Given the description of an element on the screen output the (x, y) to click on. 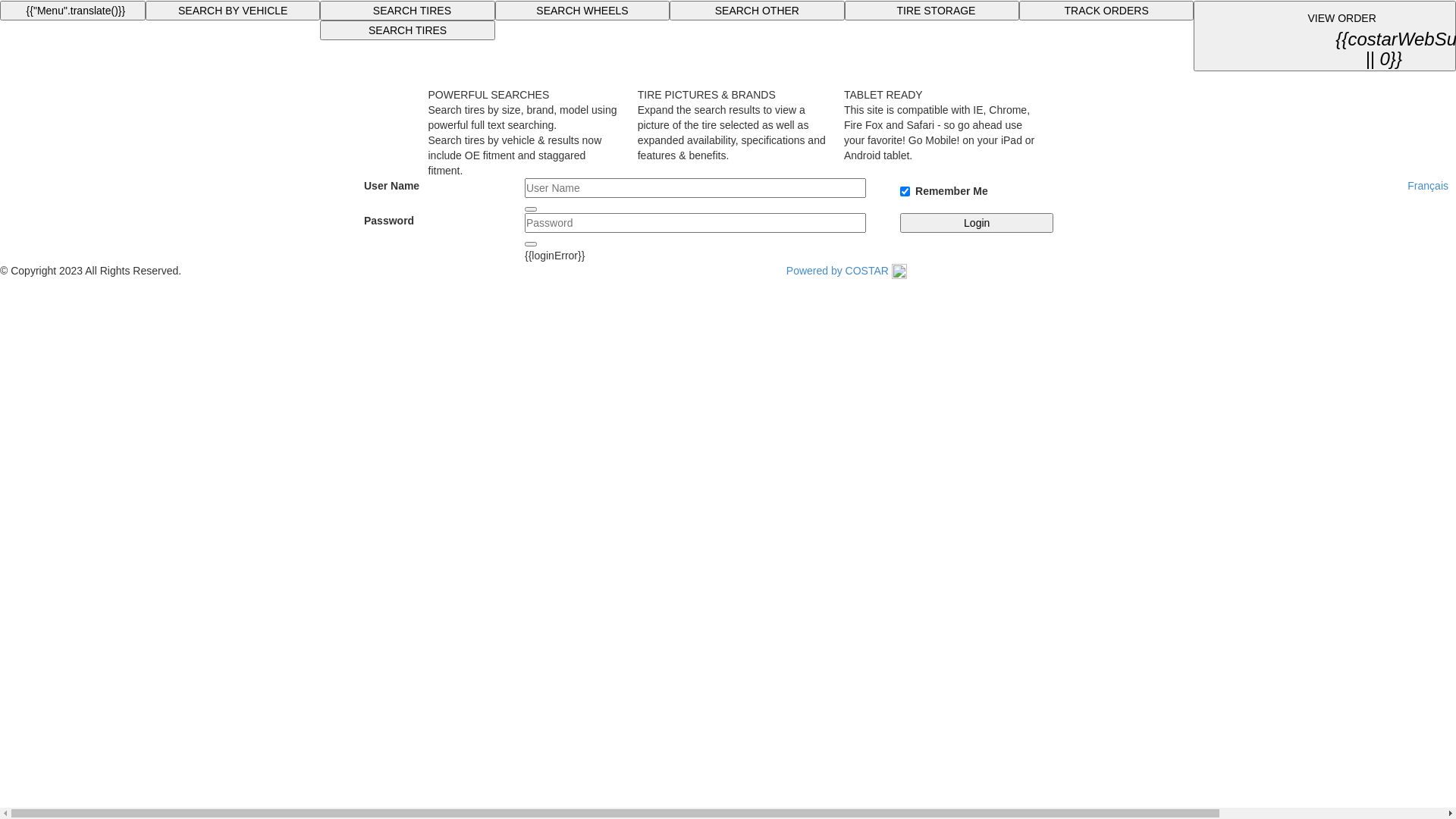
Login Element type: text (976, 222)
   SEARCH TIRES Element type: text (407, 10)
   TIRE STORAGE Element type: text (931, 10)
Powered by COSTAR Element type: text (846, 270)
TRACK ORDERS Element type: text (1106, 10)
SEARCH TIRES Element type: text (407, 30)
SEARCH OTHER Element type: text (756, 10)
SEARCH WHEELS Element type: text (582, 10)
SEARCH BY VEHICLE Element type: text (232, 10)
